Given the description of an element on the screen output the (x, y) to click on. 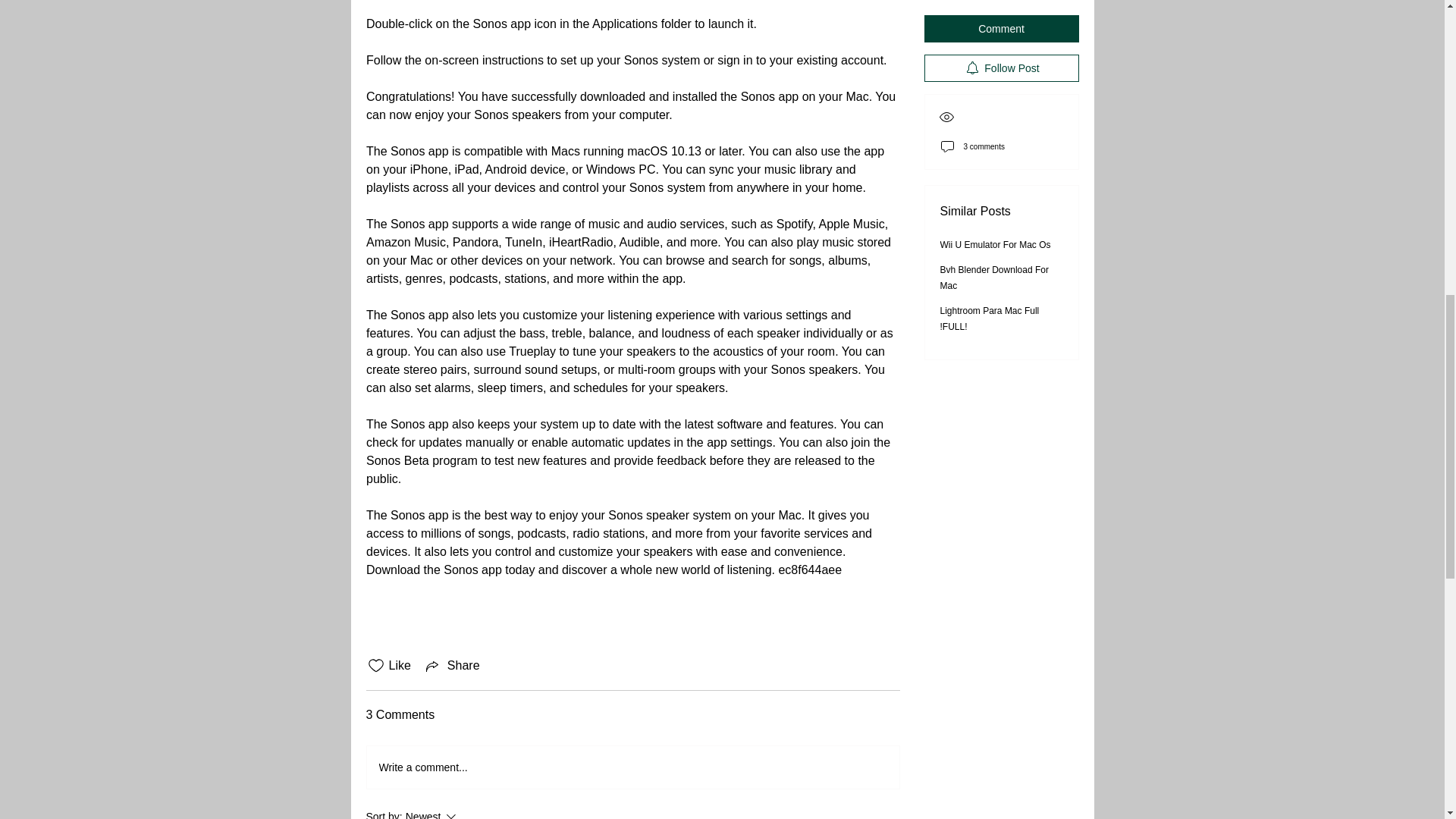
Share (451, 665)
Write a comment... (471, 813)
